Given the description of an element on the screen output the (x, y) to click on. 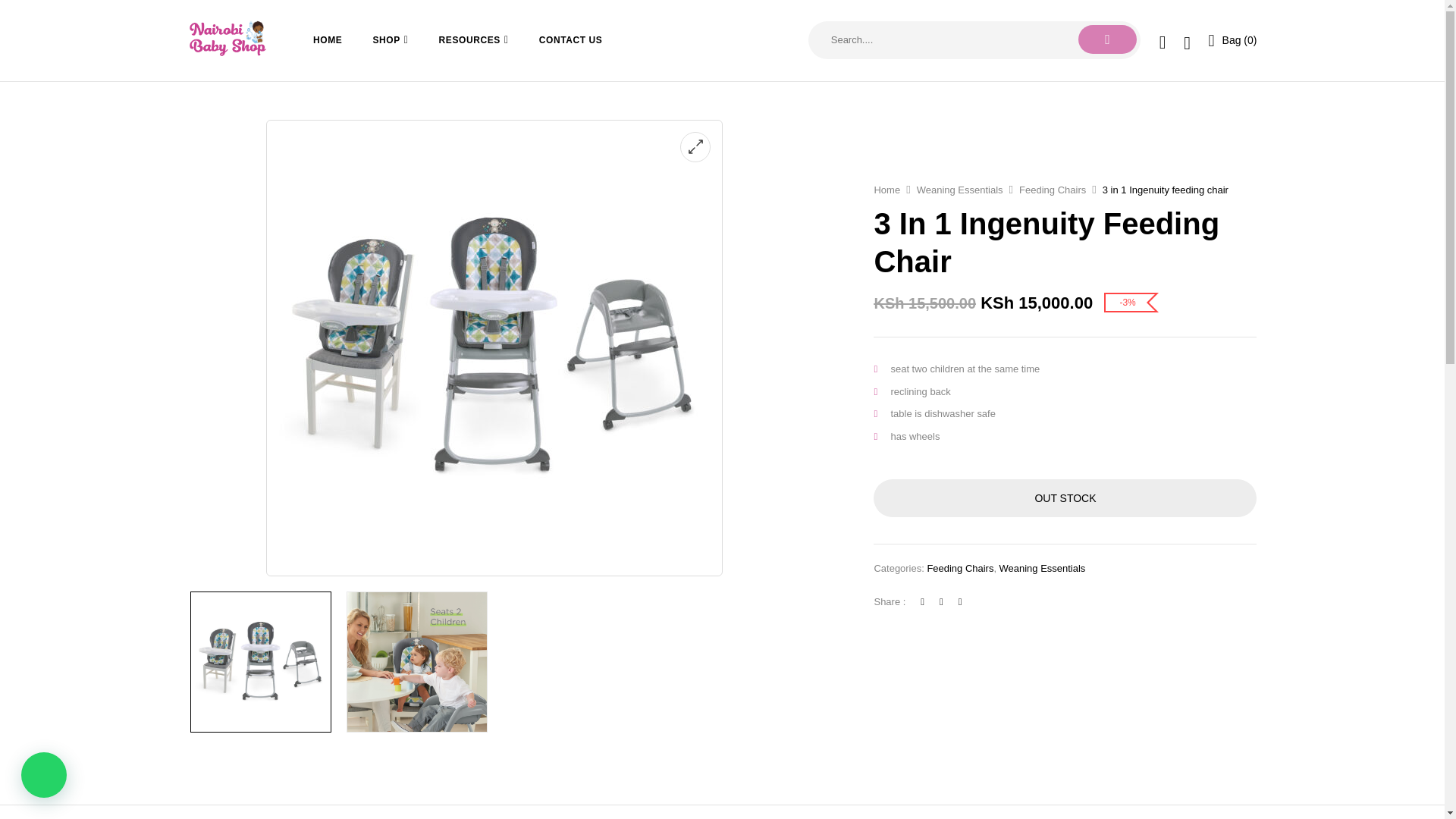
SHOP (389, 40)
search (1107, 39)
Weaning Essentials (960, 189)
CONTACT US (570, 40)
RESOURCES (473, 40)
ingenuity-multi-use-feeding-chair-scaled (416, 662)
HOME (327, 40)
Home (886, 189)
